Given the description of an element on the screen output the (x, y) to click on. 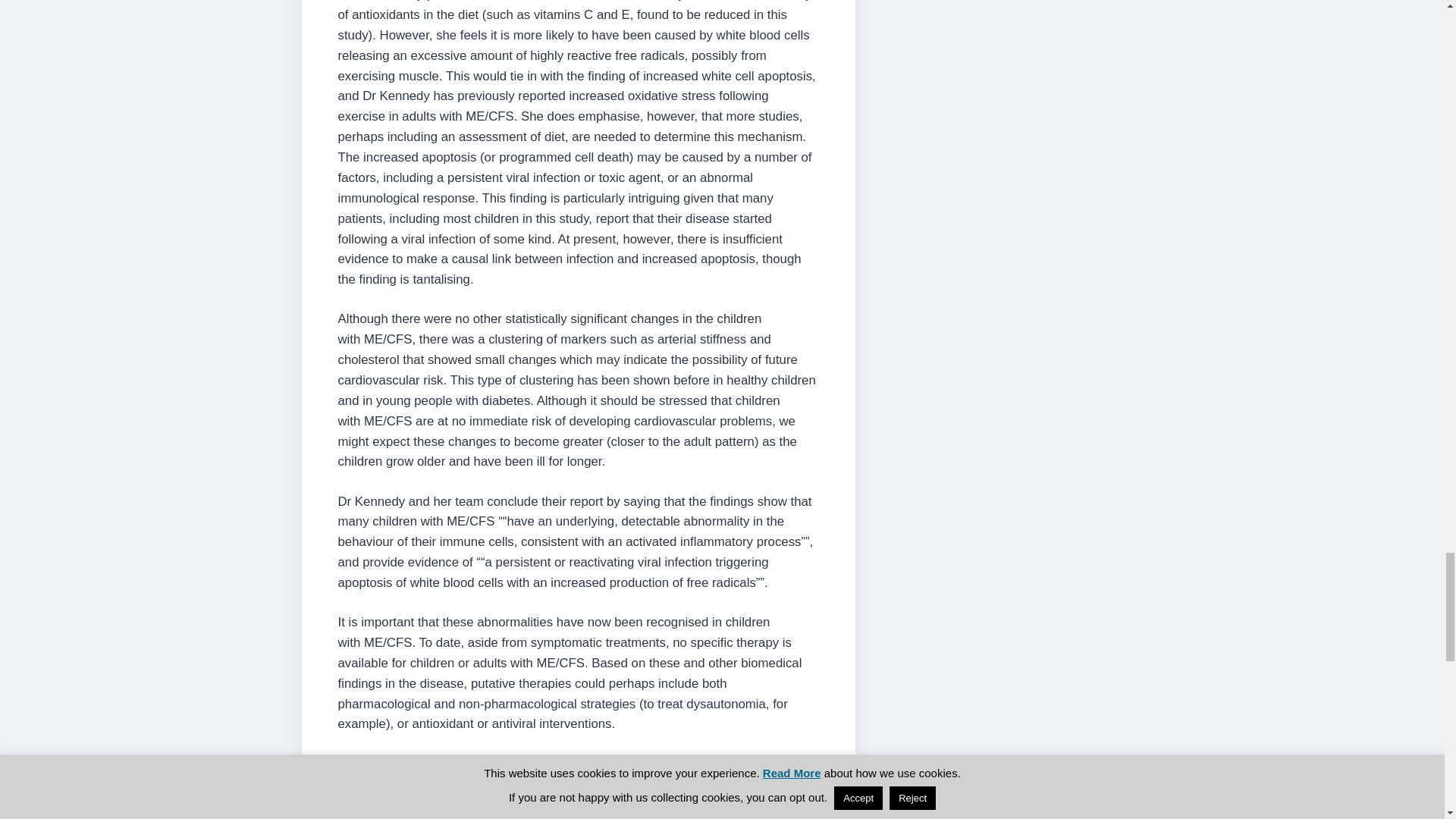
Breakthrough Autumn 2010 (568, 763)
